Given the description of an element on the screen output the (x, y) to click on. 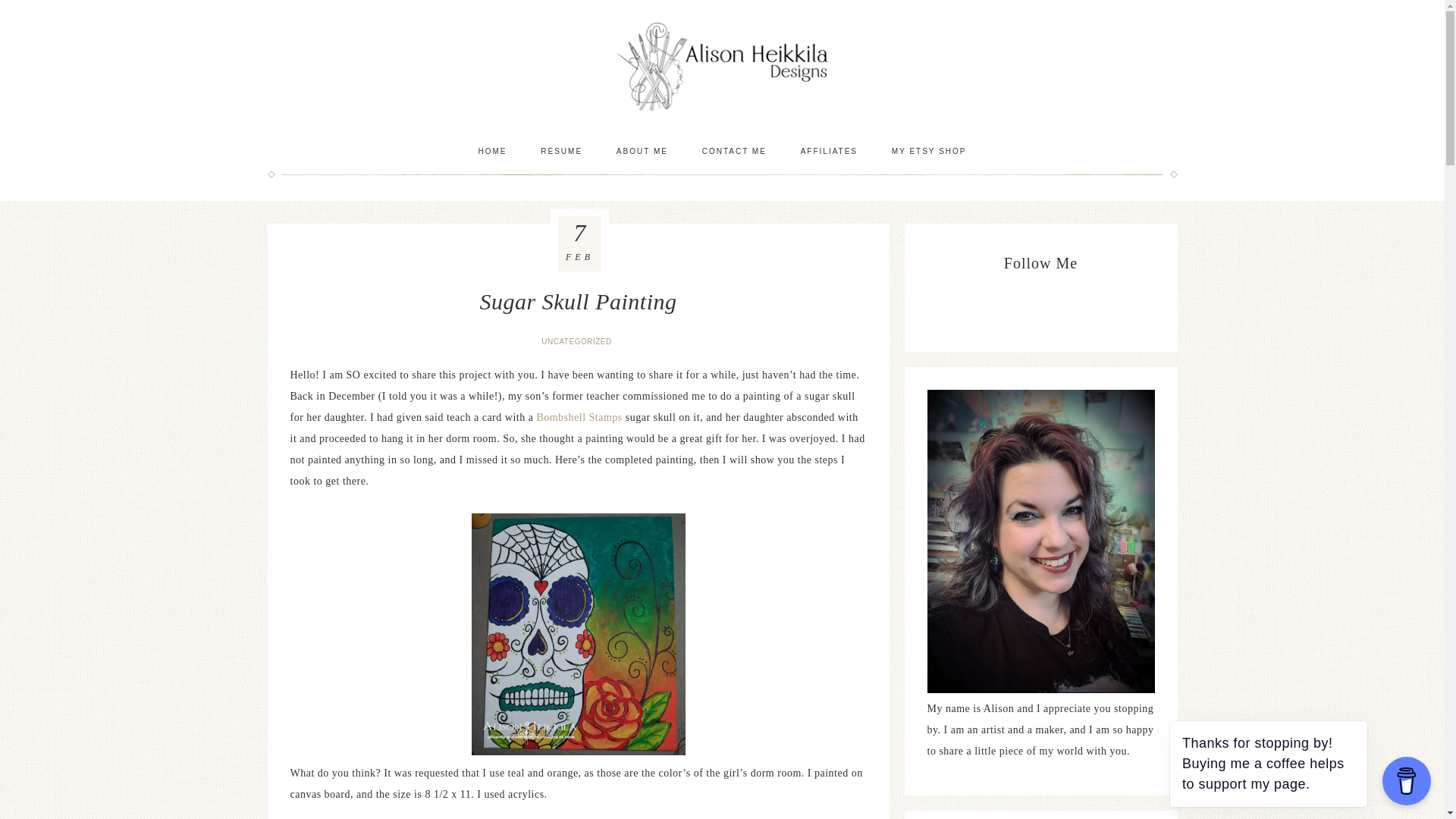
ABOUT ME (641, 151)
CONTACT ME (734, 151)
HOME (492, 151)
RESUME (560, 151)
UNCATEGORIZED (577, 341)
ALISON HEIKKILA DESIGNS (722, 65)
AFFILIATES (829, 151)
MY ETSY SHOP (928, 151)
Bombshell Stamps (578, 417)
